Given the description of an element on the screen output the (x, y) to click on. 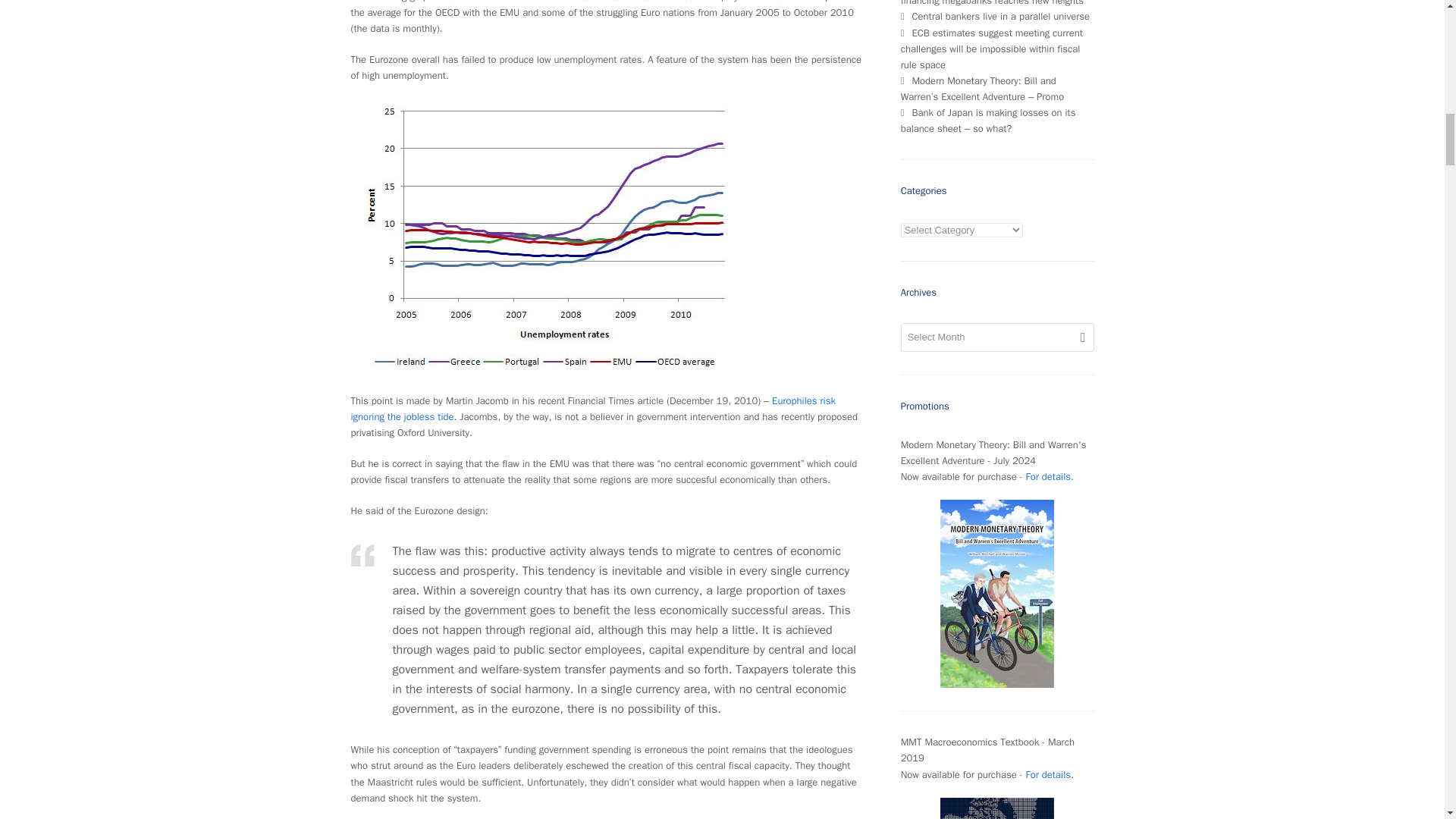
Europhiles risk ignoring the jobless tide (592, 408)
OECD Main Economic Indicators (529, 1)
